Given the description of an element on the screen output the (x, y) to click on. 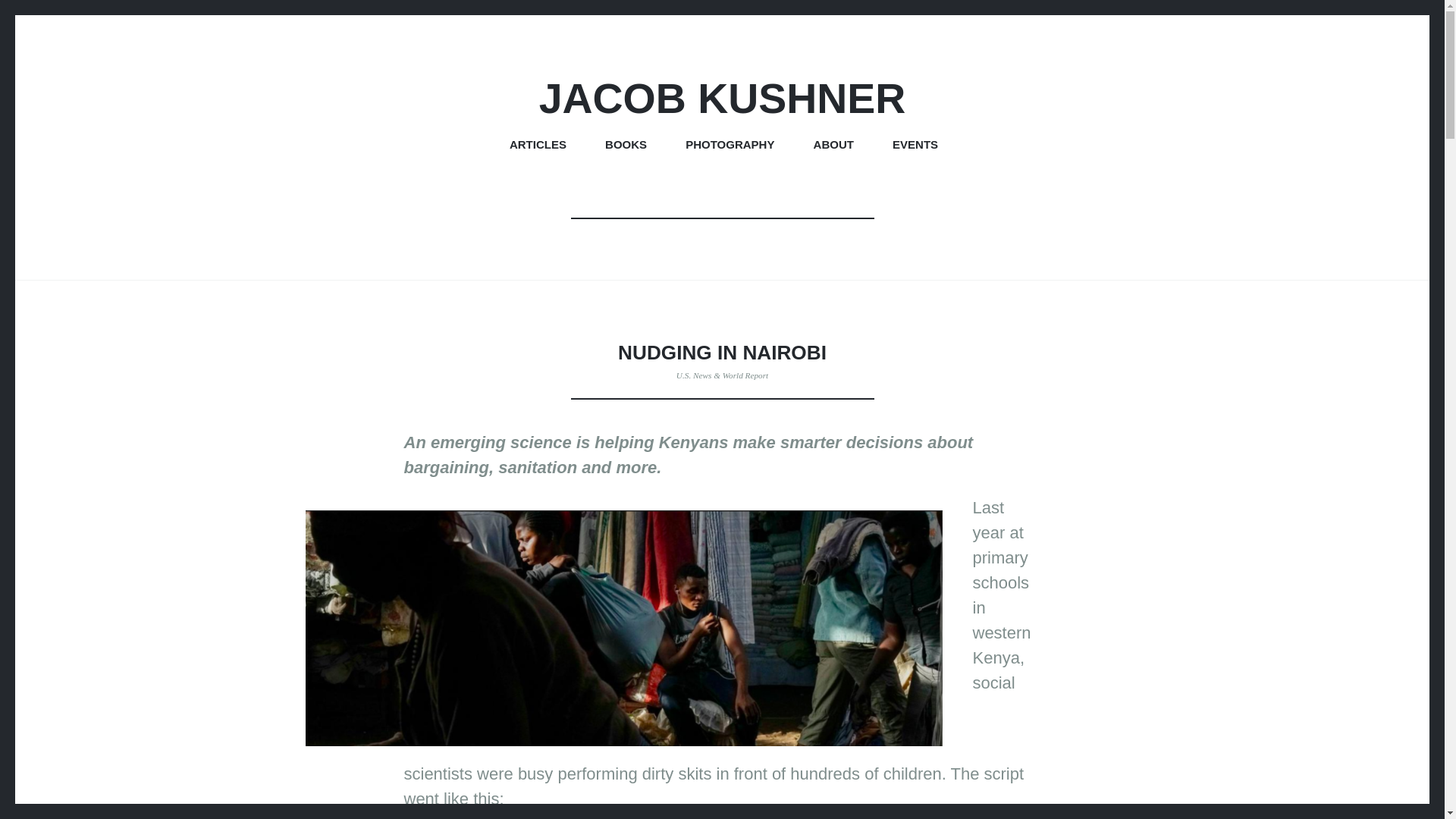
JACOB KUSHNER (721, 99)
PHOTOGRAPHY (729, 147)
NUDGING IN NAIROBI (722, 352)
EVENTS (914, 147)
BOOKS (625, 147)
ABOUT (833, 147)
ARTICLES (537, 147)
